Given the description of an element on the screen output the (x, y) to click on. 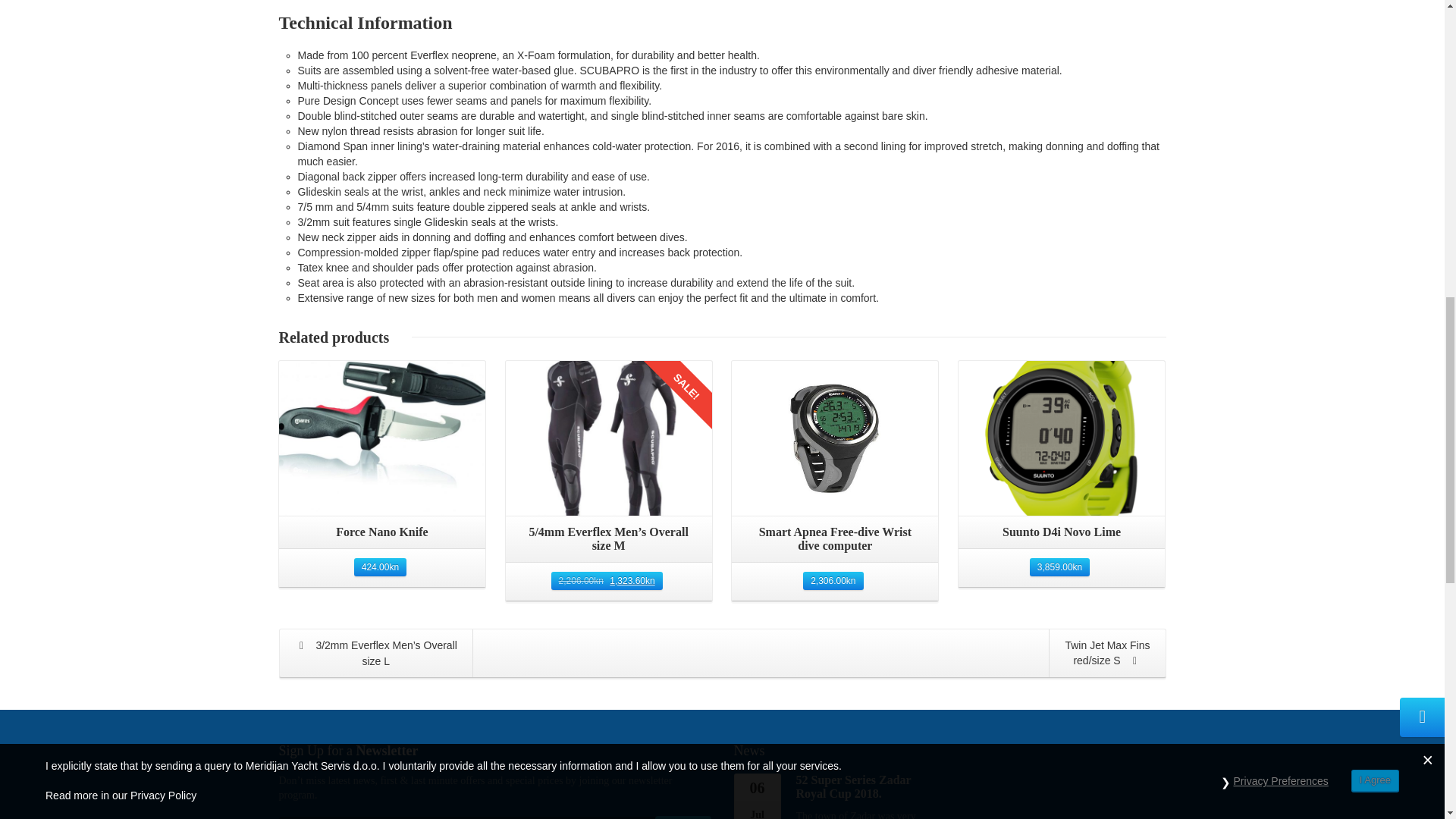
424.00kn (379, 566)
Description (330, 19)
2,306.00kn (833, 580)
2,206.00kn 1,323.60kn (606, 580)
Smart Apnea Free-dive Wrist dive computer (834, 539)
Force Nano Knife (381, 532)
